Given the description of an element on the screen output the (x, y) to click on. 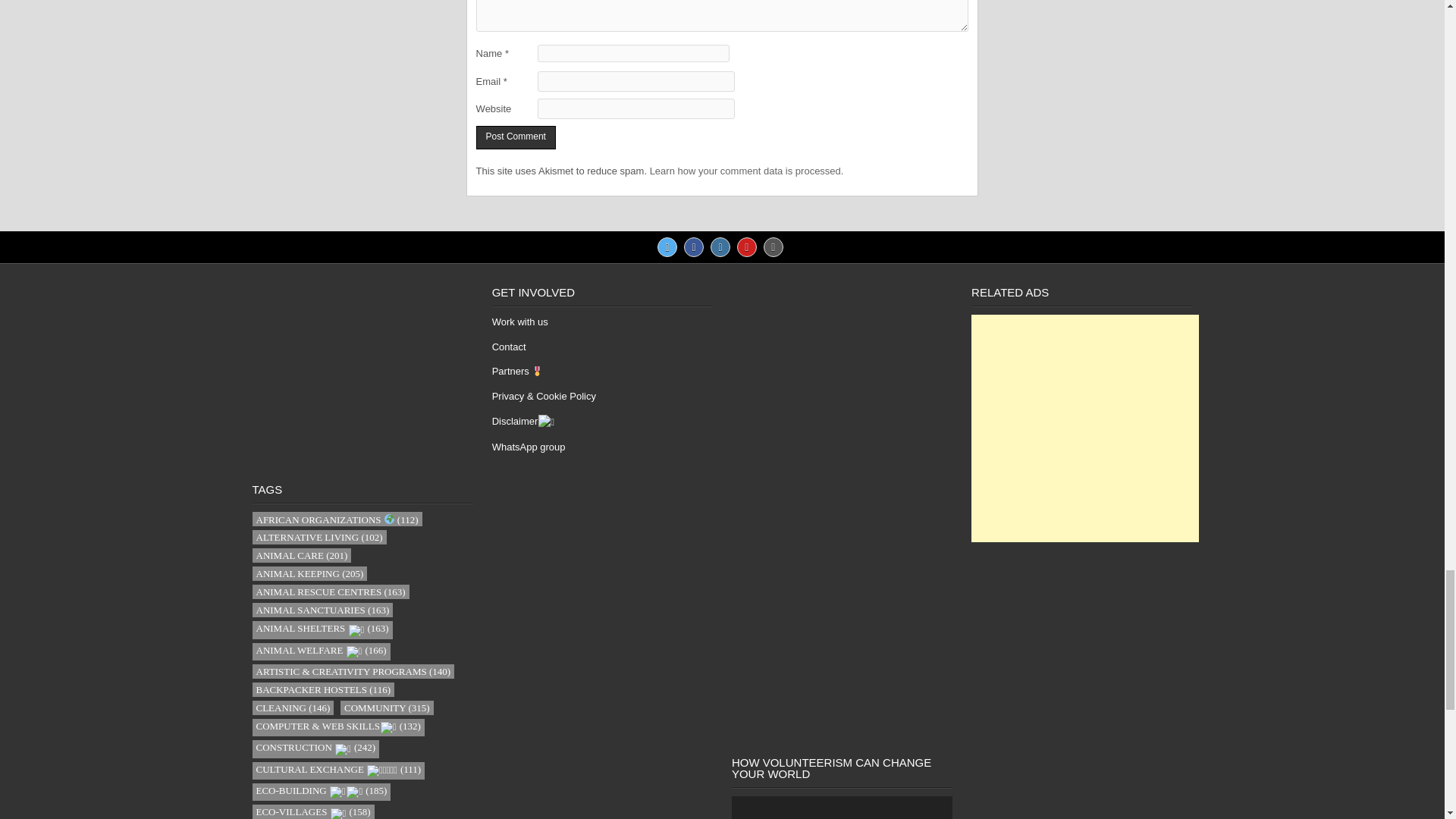
Twitter (667, 247)
Post Comment (516, 137)
